Given the description of an element on the screen output the (x, y) to click on. 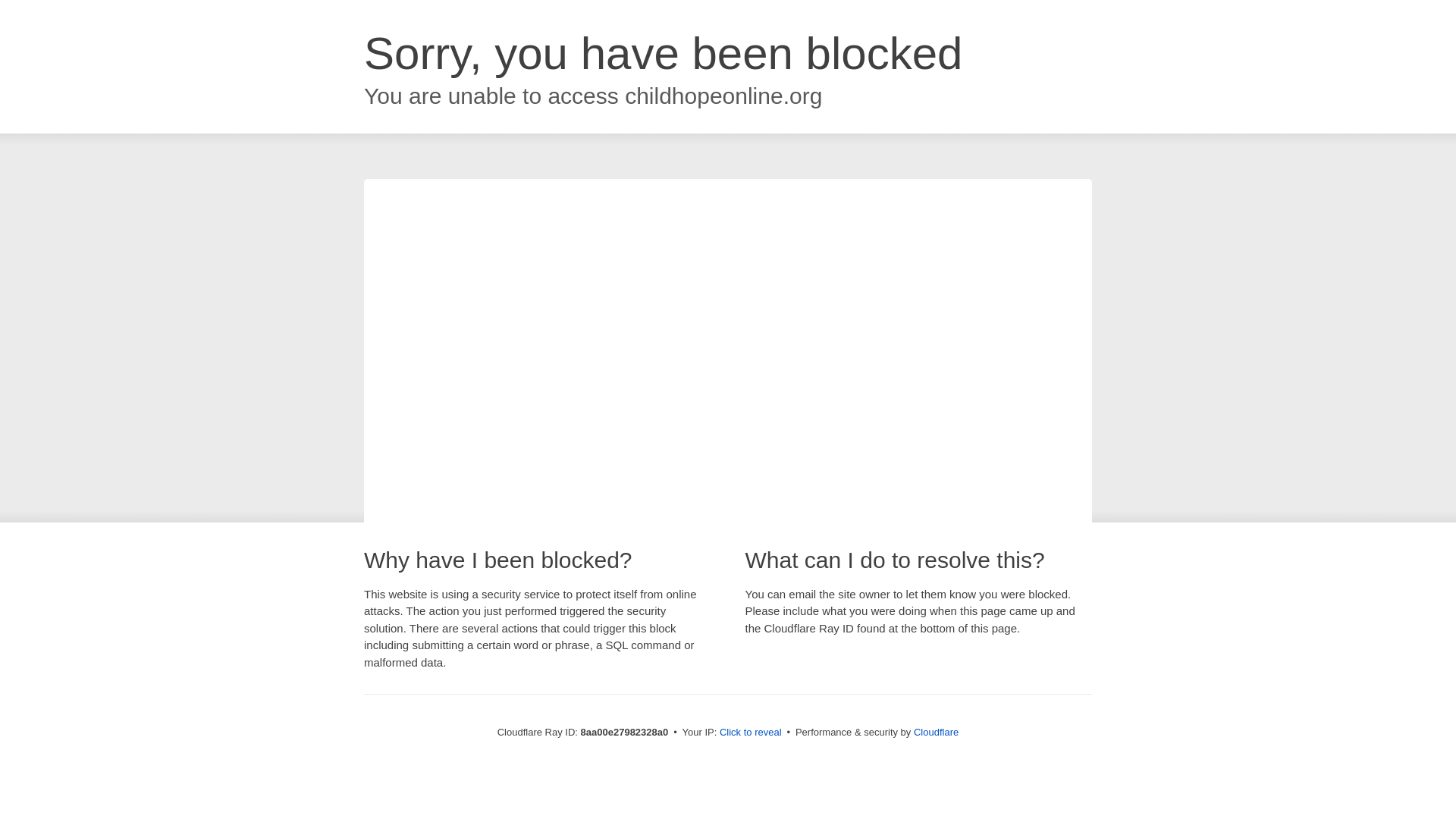
Click to reveal (750, 732)
Cloudflare (936, 731)
